Given the description of an element on the screen output the (x, y) to click on. 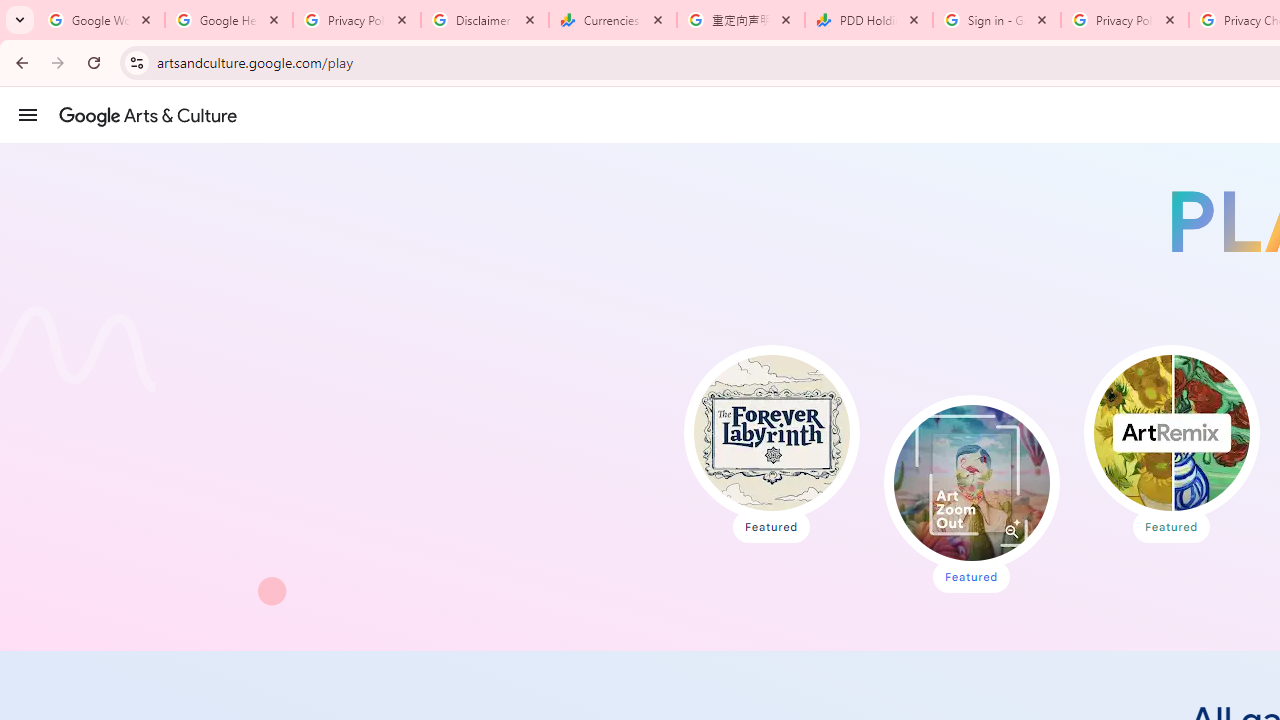
Google Arts & Culture (148, 115)
Art Remix (1170, 432)
The Forever Labyrinth (771, 432)
Sign in - Google Accounts (997, 20)
PDD Holdings Inc - ADR (PDD) Price & News - Google Finance (869, 20)
Google Workspace Admin Community (101, 20)
Art Zoom Out (971, 482)
